Given the description of an element on the screen output the (x, y) to click on. 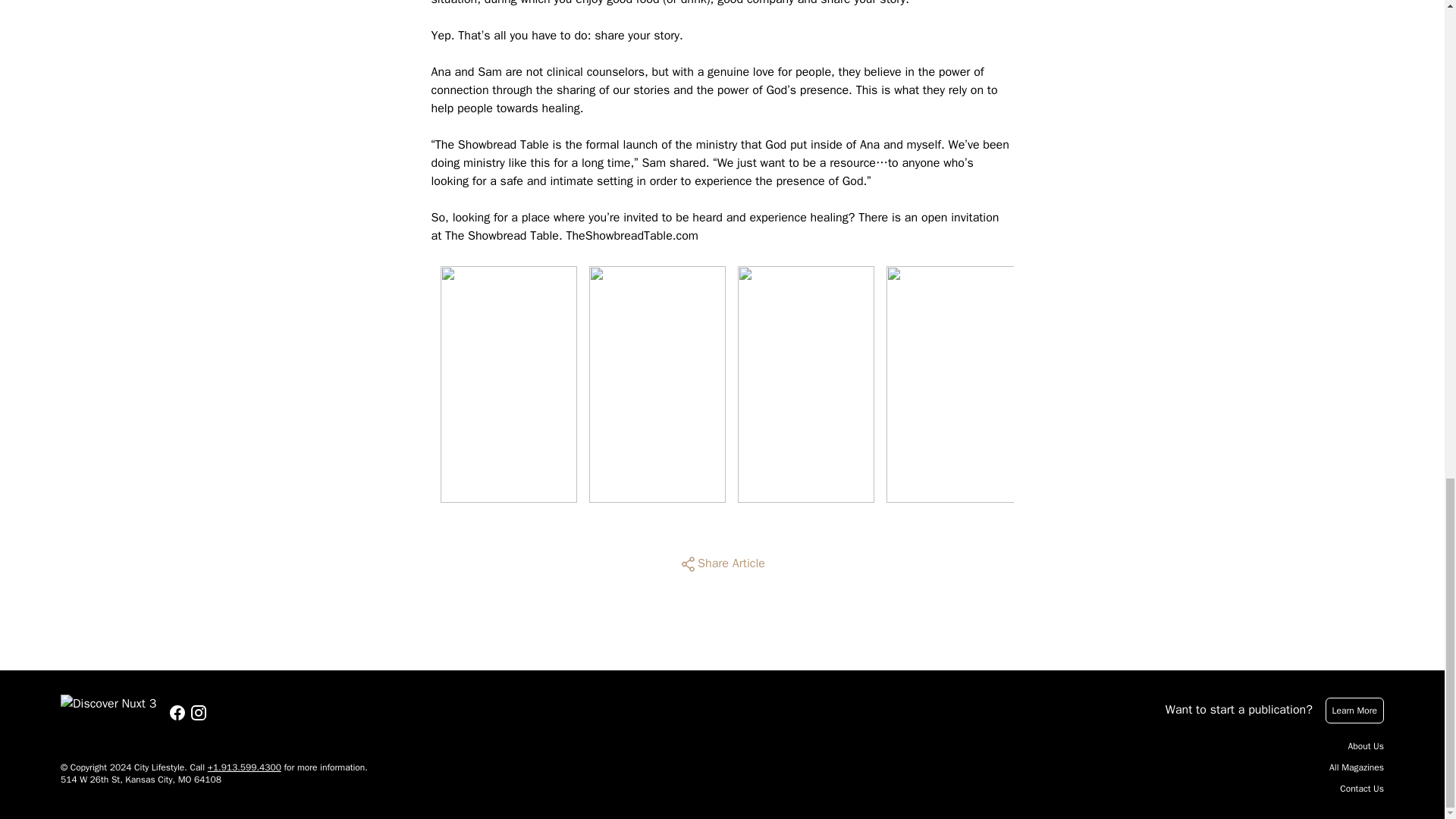
About Us (1366, 746)
Contact Us (1361, 788)
Learn More (1354, 710)
Share Article (722, 563)
All Magazines (1356, 767)
